Given the description of an element on the screen output the (x, y) to click on. 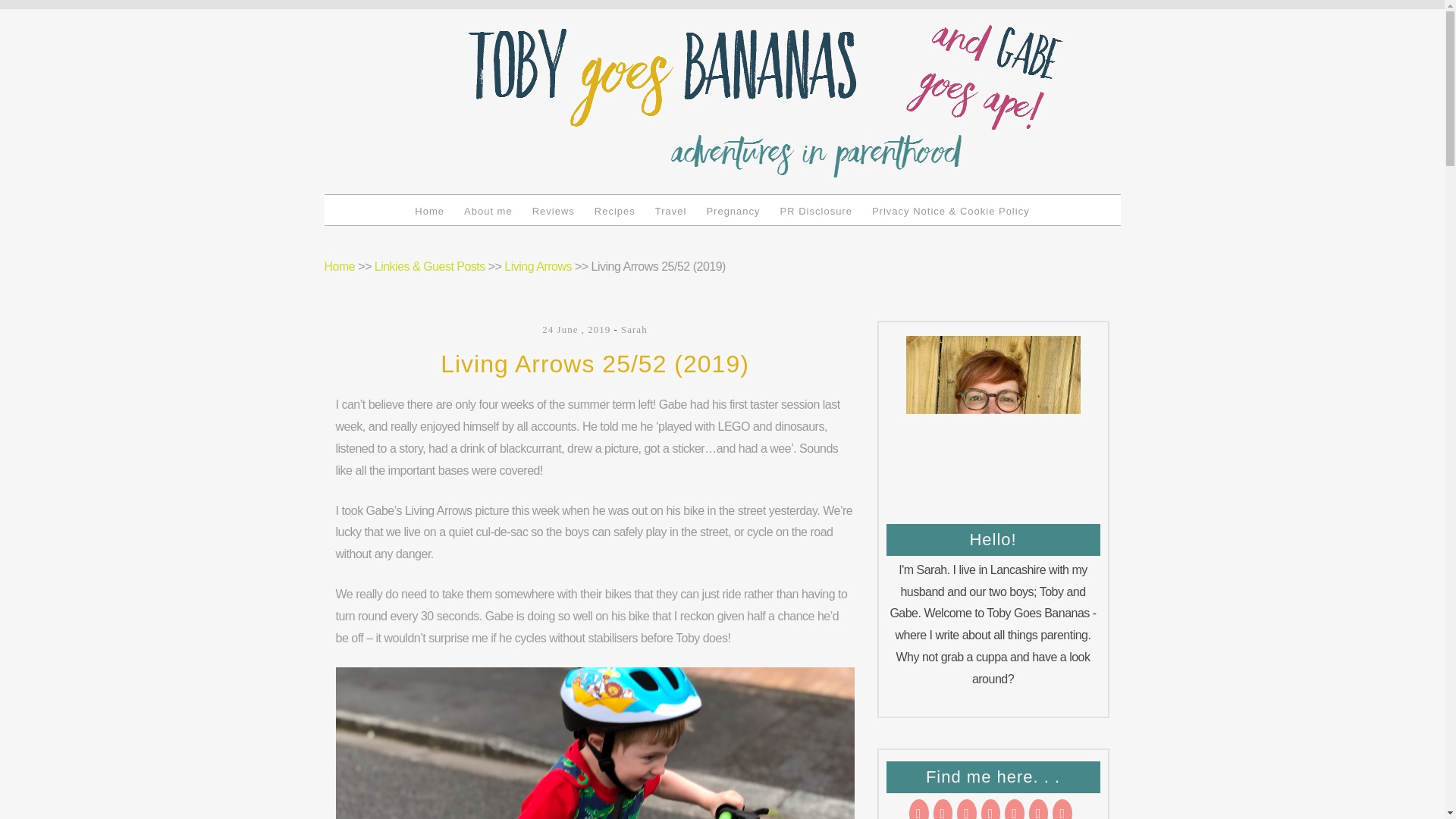
Pinterest (1014, 809)
Recipes (614, 211)
Toby Goes Bananas (573, 54)
Facebook (991, 809)
PR Disclosure (815, 211)
Home (429, 211)
Email (918, 809)
Home (339, 266)
Pregnancy (733, 211)
